Given the description of an element on the screen output the (x, y) to click on. 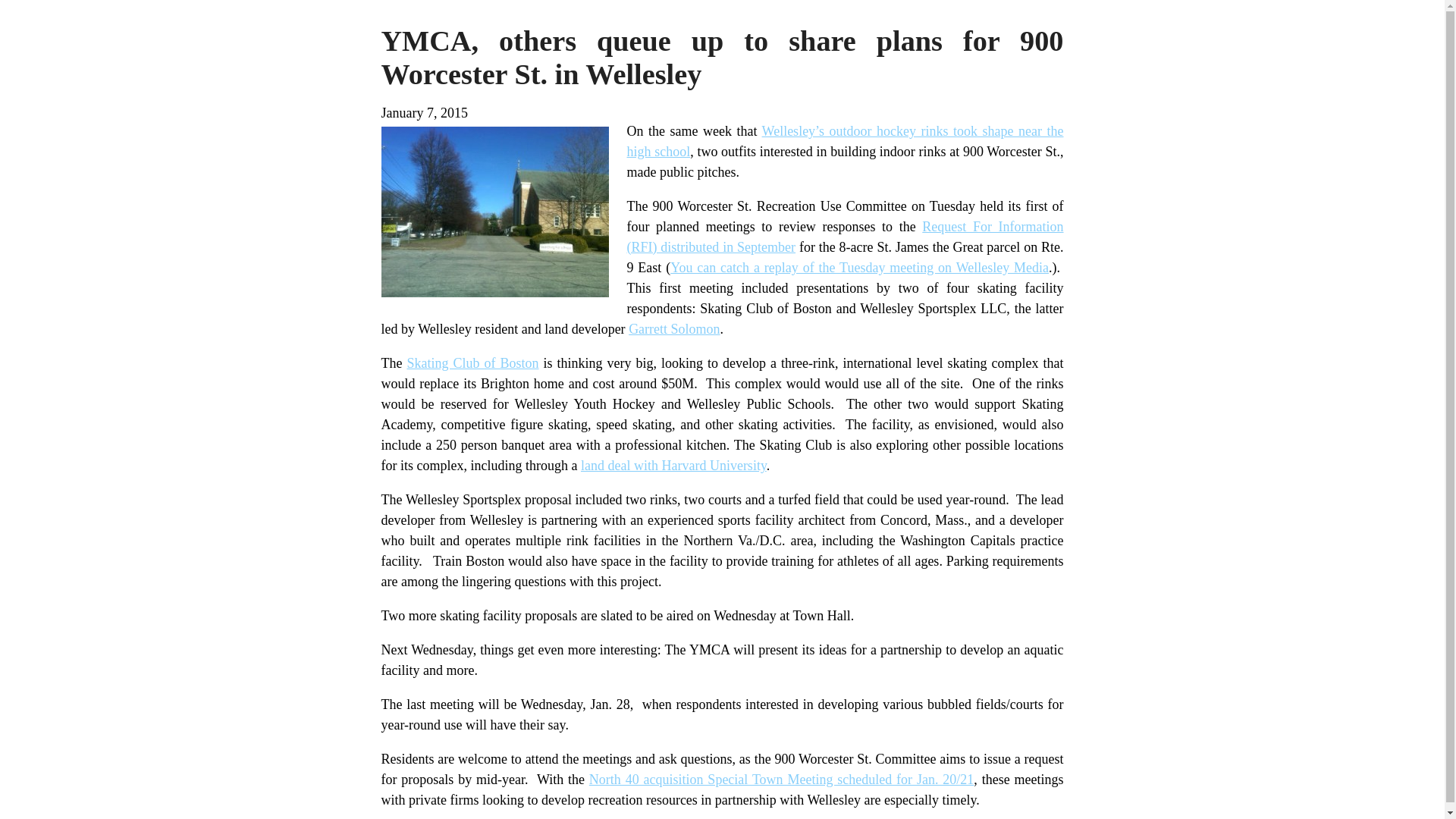
Garrett Solomon (673, 328)
Skating Club of Boston (472, 363)
land deal with Harvard University (673, 465)
